Given the description of an element on the screen output the (x, y) to click on. 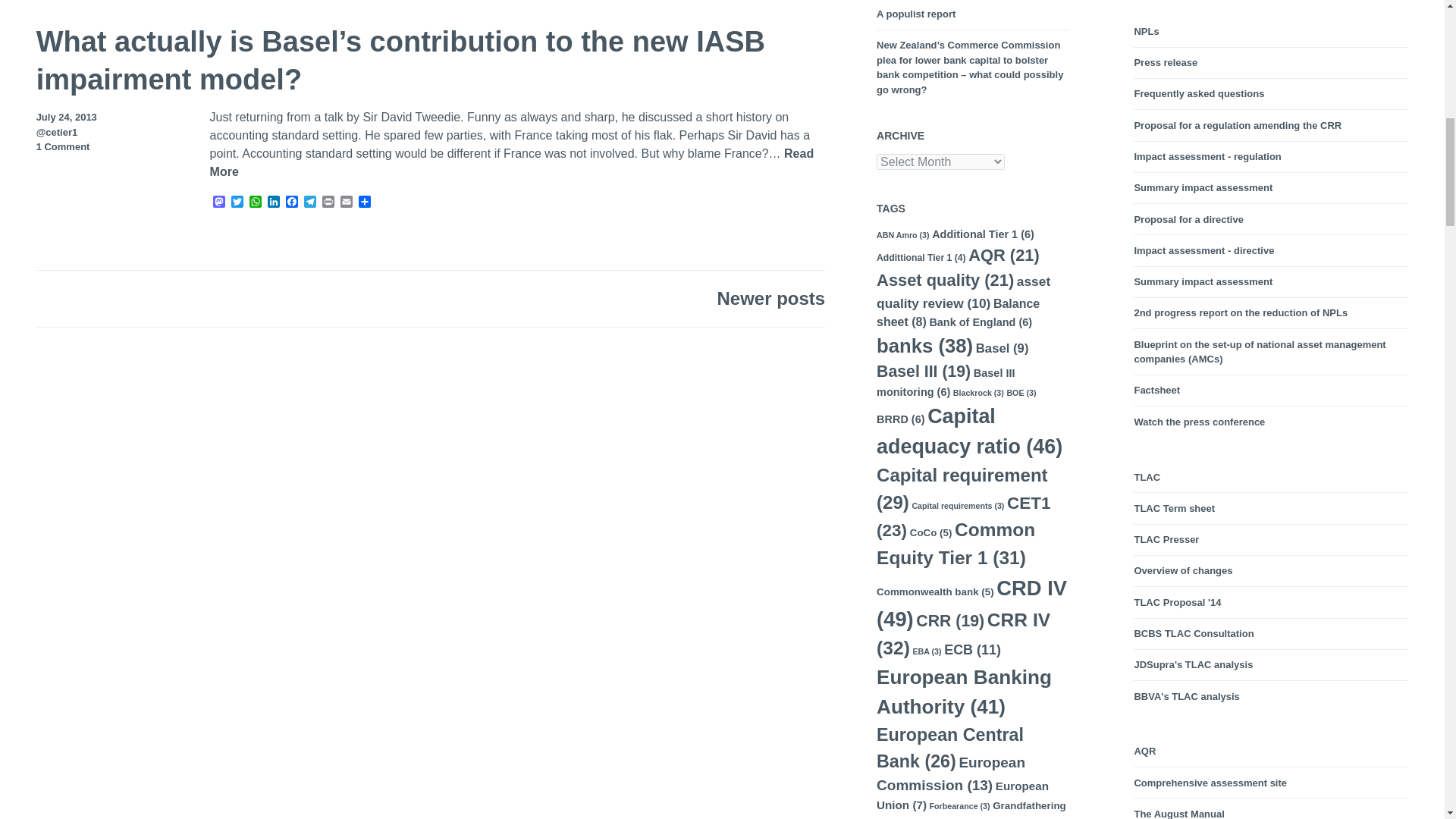
Mastodon (218, 202)
Twitter (237, 202)
